Given the description of an element on the screen output the (x, y) to click on. 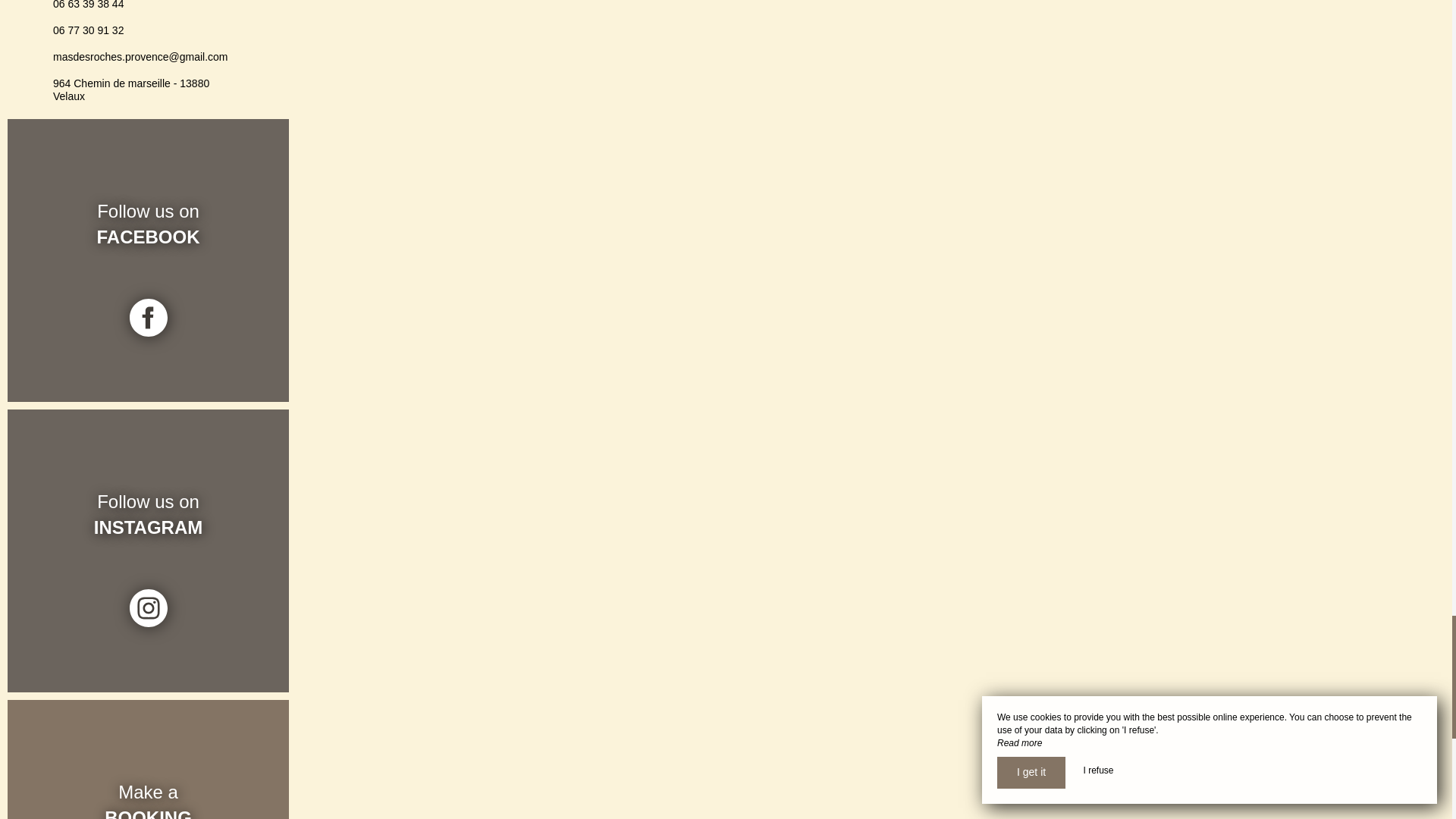
06 63 39 38 44 (665, 345)
964 Chemin de marseille - 13880 Velaux (708, 430)
06 77 30 91 32 (665, 371)
